Given the description of an element on the screen output the (x, y) to click on. 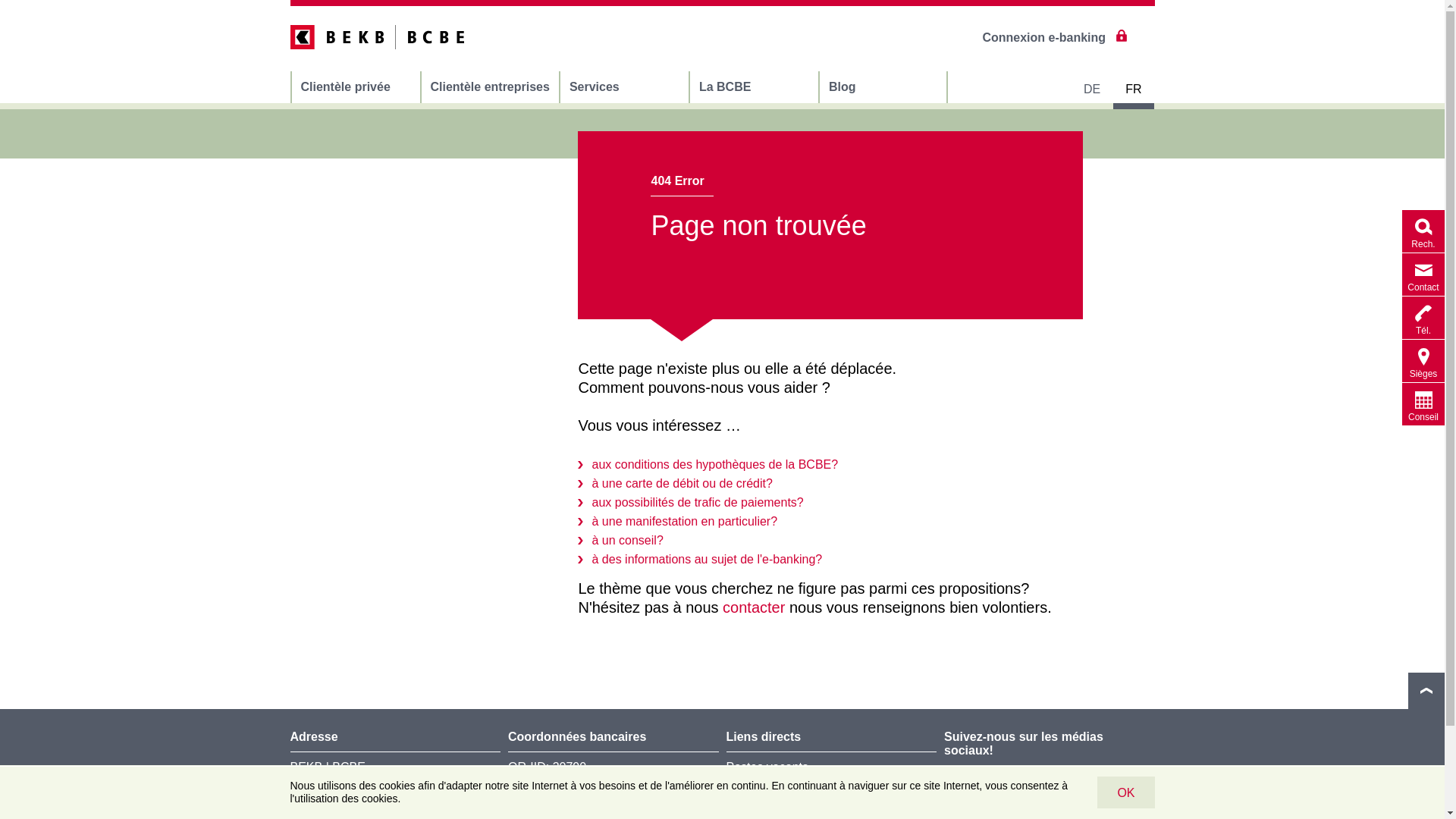
Instagram Element type: text (1087, 793)
Blog Element type: text (882, 87)
Connexion e-banking Element type: text (1054, 37)
DE Element type: text (1091, 89)
La BCBE Element type: text (754, 87)
OK Element type: text (1125, 792)
contacter Element type: text (753, 607)
FR Element type: text (1133, 89)
Contact Element type: text (1423, 274)
Services Element type: text (624, 87)
Rech. Element type: text (1423, 231)
Postes vacants Element type: text (767, 767)
TikTok Element type: text (1128, 793)
Facebook Element type: text (1045, 793)
Conseil Element type: text (1423, 403)
Kununu Element type: text (1003, 793)
LinkedIn Element type: text (962, 793)
vers le footer Element type: text (1426, 690)
